Given the description of an element on the screen output the (x, y) to click on. 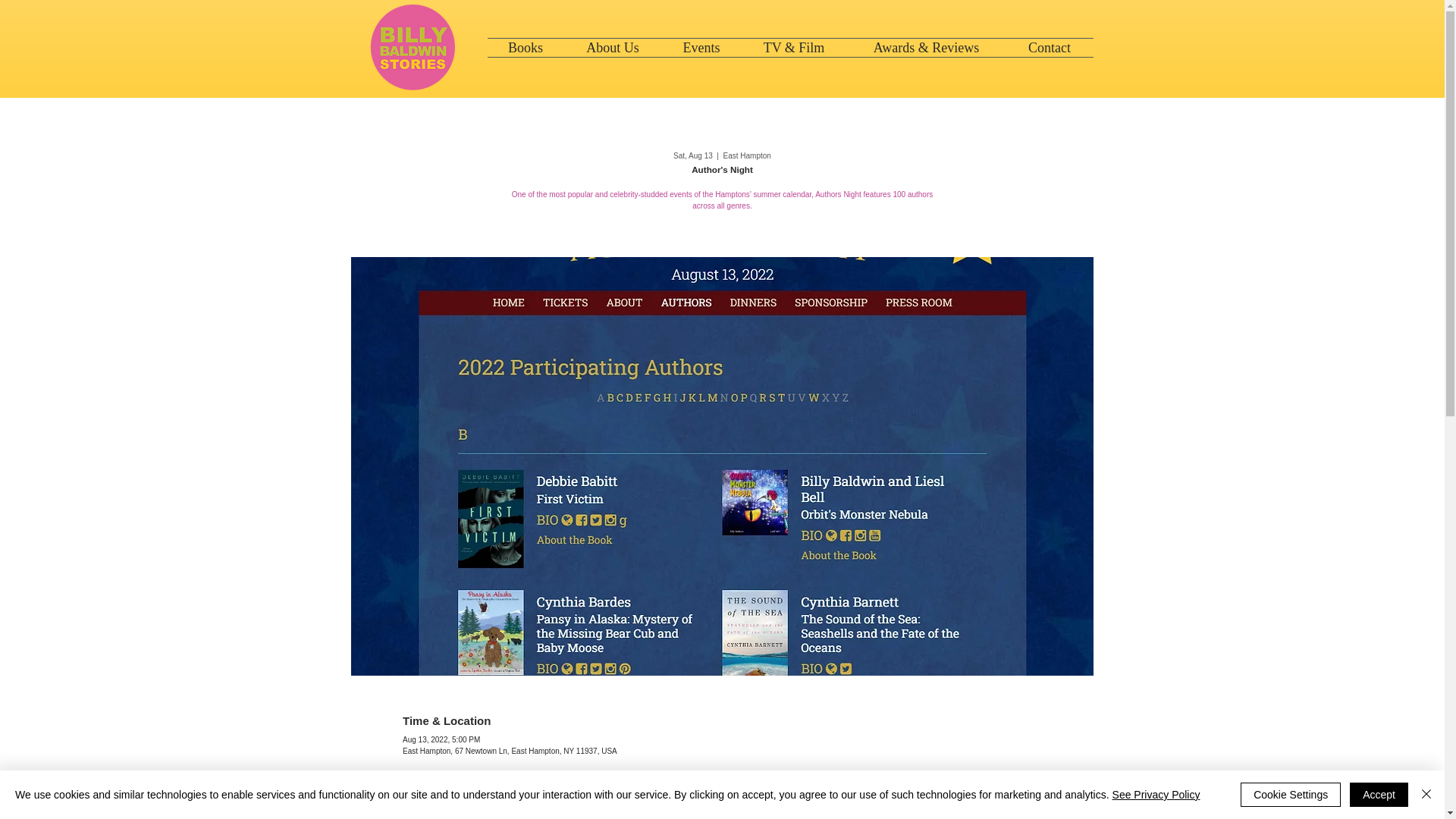
Cookie Settings (1290, 794)
Events (701, 47)
Books (524, 47)
See Privacy Policy (1155, 794)
Contact (1049, 47)
Accept (1378, 794)
About Us (613, 47)
